Given the description of an element on the screen output the (x, y) to click on. 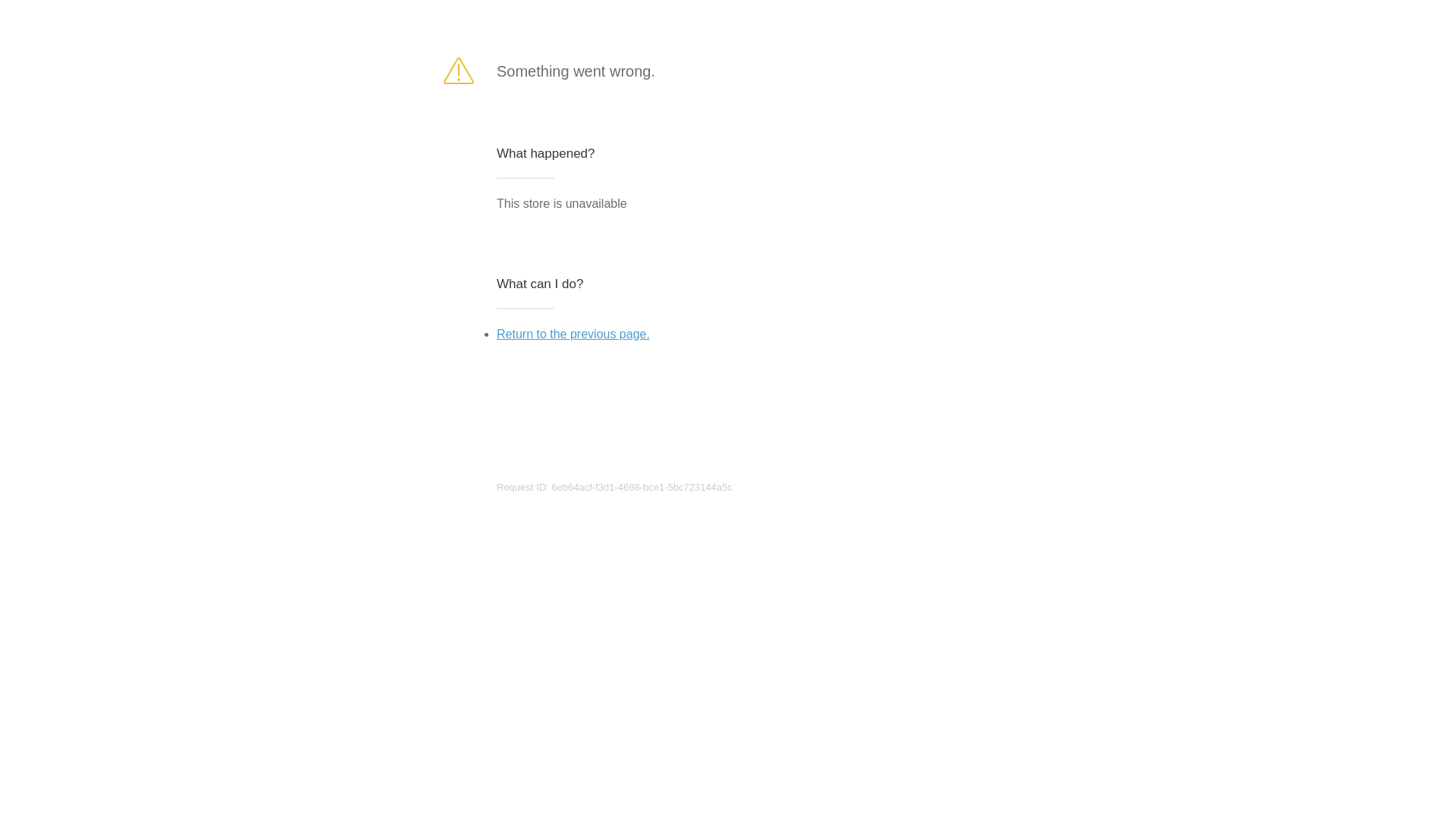
Return to the previous page. Element type: text (572, 333)
